Given the description of an element on the screen output the (x, y) to click on. 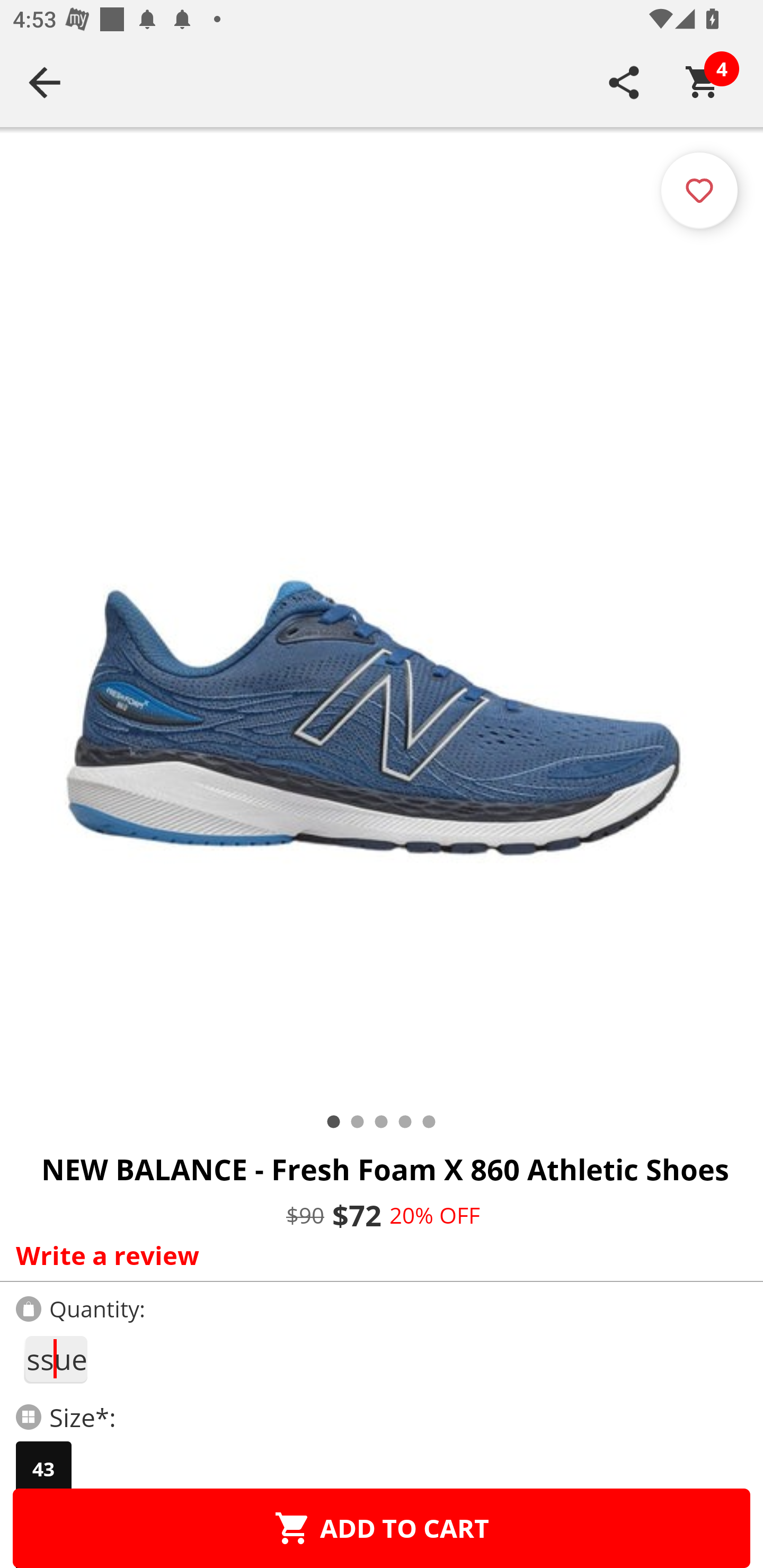
Navigate up (44, 82)
SHARE (623, 82)
Cart (703, 81)
Write a review (377, 1255)
1lamptissue (55, 1358)
43 (43, 1468)
ADD TO CART (381, 1528)
